Given the description of an element on the screen output the (x, y) to click on. 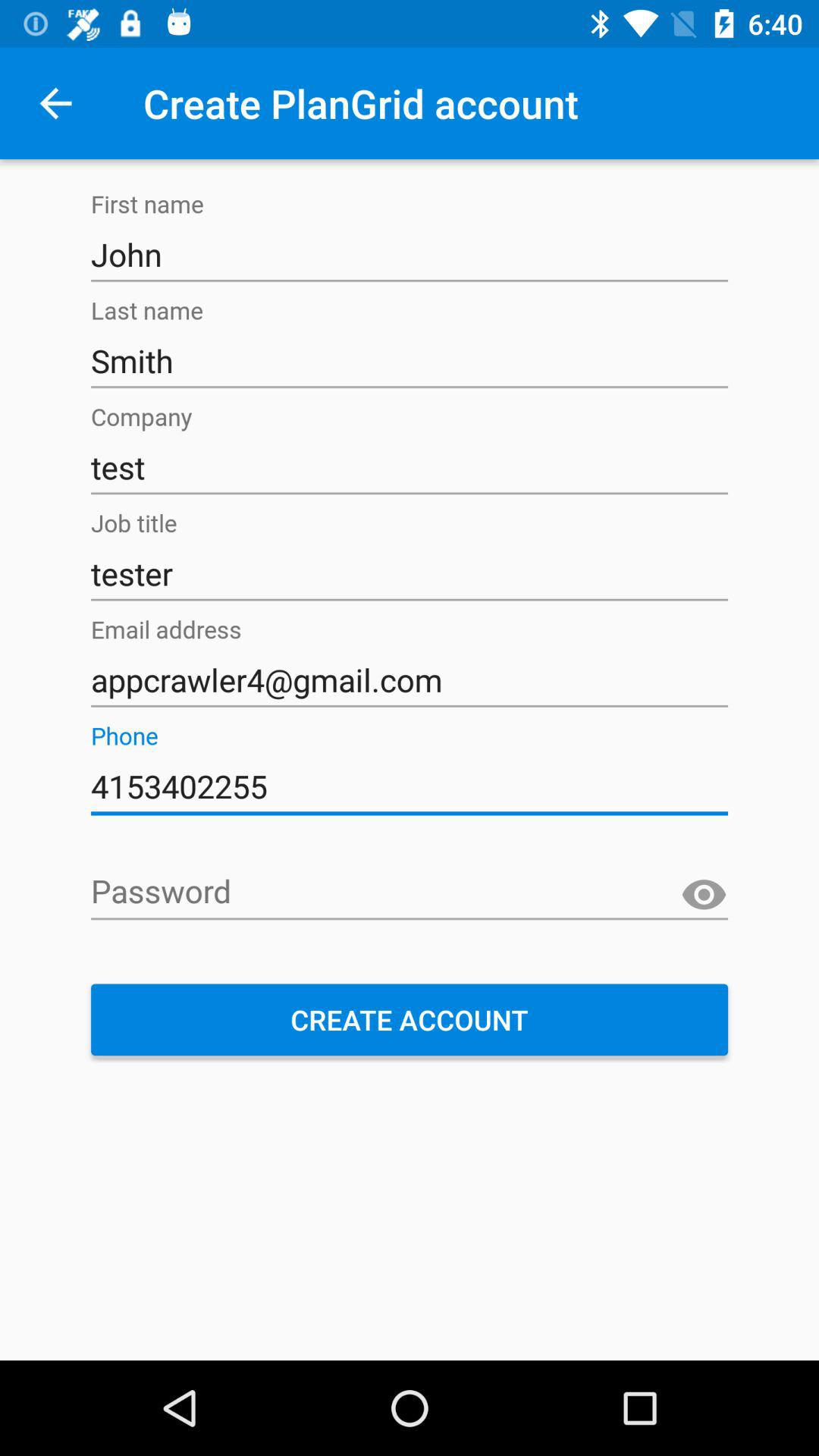
swipe until the john (409, 254)
